Given the description of an element on the screen output the (x, y) to click on. 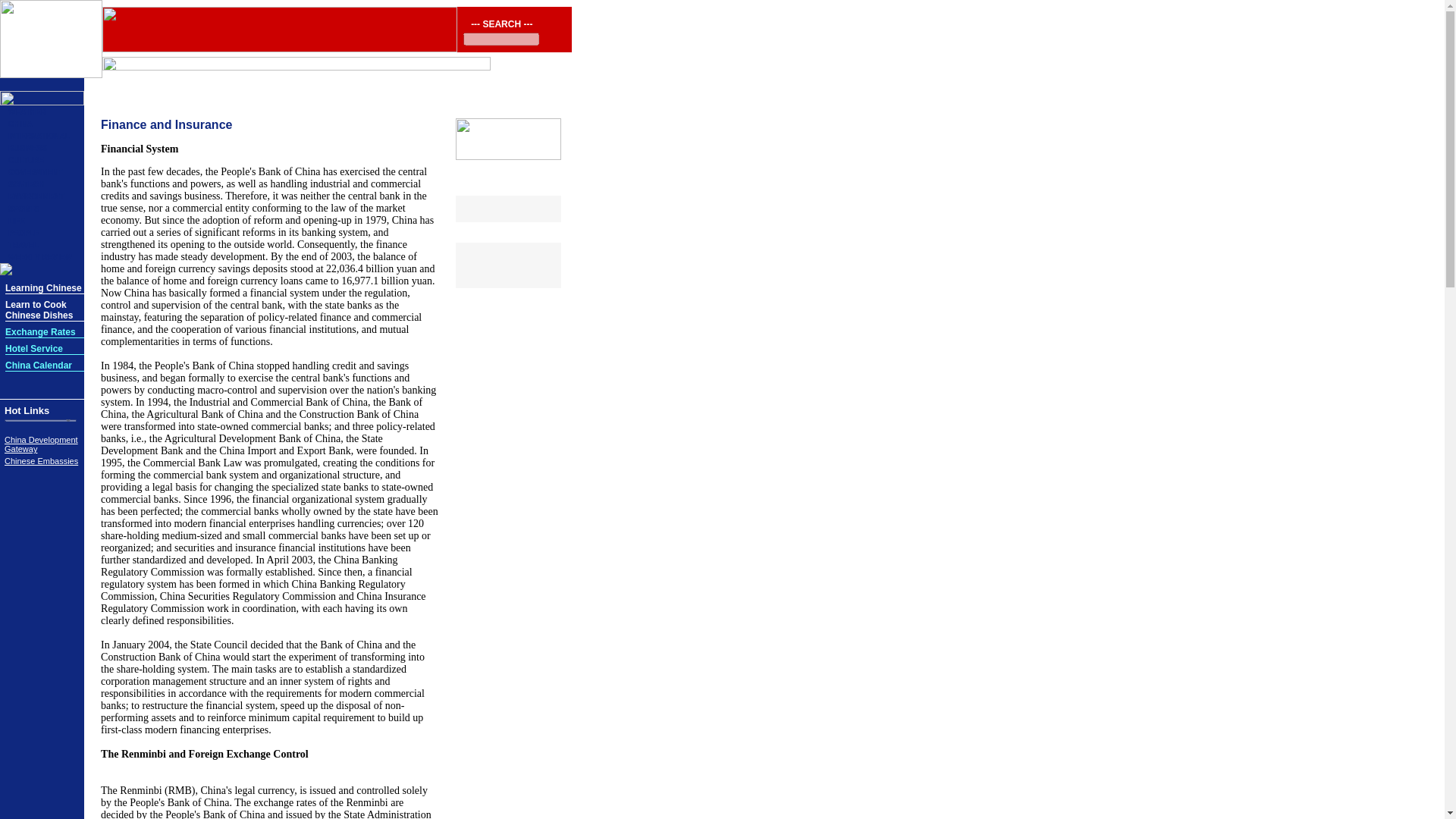
INTERNATIONAL (38, 135)
CULTURE (25, 160)
WEATHER (27, 111)
Hotel Service (33, 348)
China Development Gateway (41, 443)
GOVERNMENT (35, 172)
Learn to Cook Chinese Dishes (38, 310)
Chinese Embassies (41, 461)
Exchange Rates (40, 331)
SCI-TECH (25, 184)
